Given the description of an element on the screen output the (x, y) to click on. 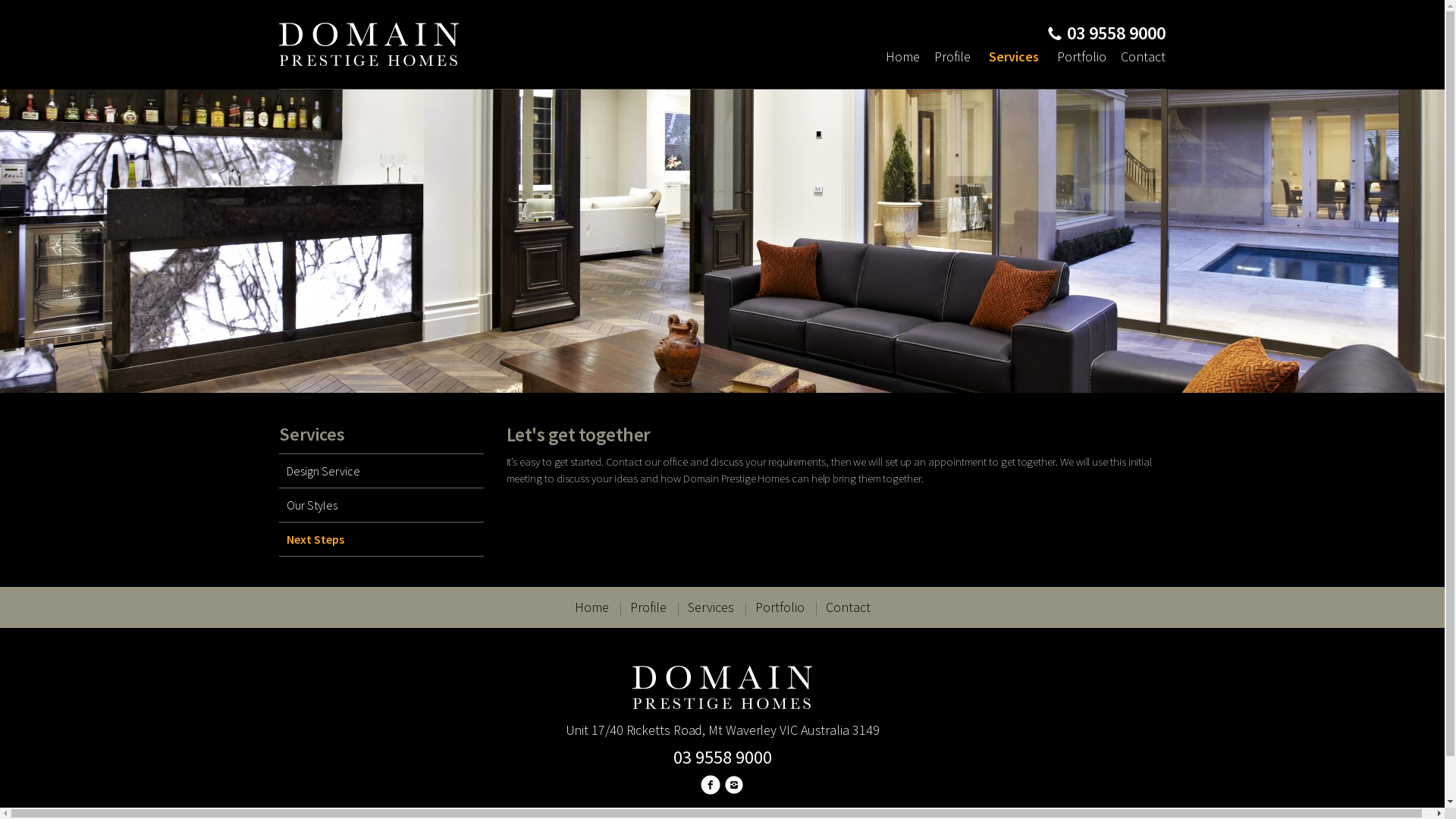
Home Element type: text (591, 607)
Portfolio Element type: text (779, 607)
Portfolio Element type: text (1081, 56)
Our Styles Element type: text (381, 505)
Contact Element type: text (1140, 56)
Services Element type: text (1013, 56)
Next Steps Element type: text (381, 539)
Contact Element type: text (846, 607)
Profile Element type: text (952, 56)
Home Element type: text (905, 56)
03 9558 9000 Element type: text (722, 756)
Design Service Element type: text (381, 470)
Profile Element type: text (647, 607)
Services Element type: text (709, 607)
